Given the description of an element on the screen output the (x, y) to click on. 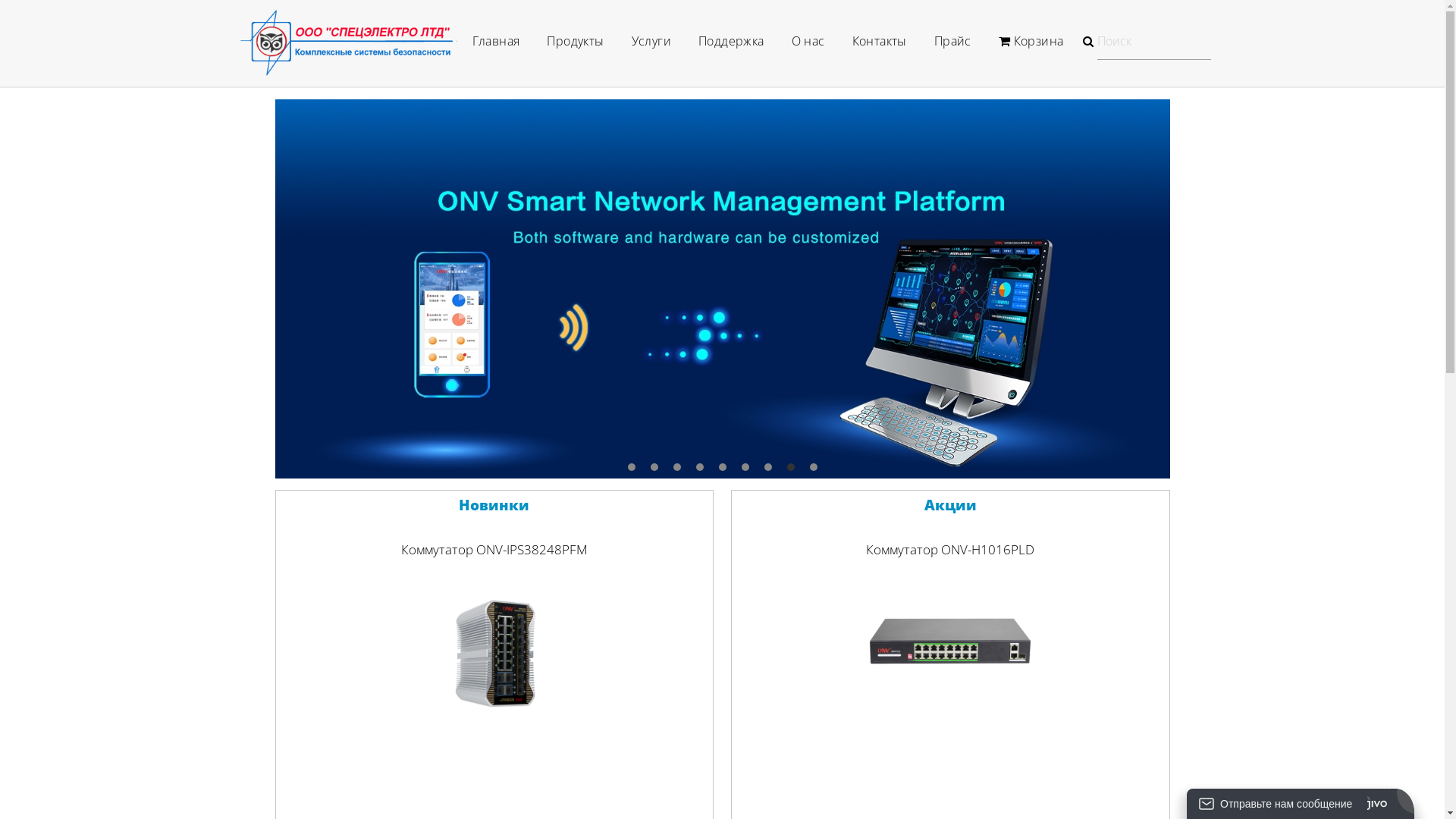
1 Element type: text (631, 466)
3 Element type: text (676, 466)
5 Element type: text (722, 466)
9 Element type: text (813, 466)
8 Element type: text (790, 466)
7 Element type: text (767, 466)
2 Element type: text (654, 466)
4 Element type: text (699, 466)
6 Element type: text (745, 466)
